Given the description of an element on the screen output the (x, y) to click on. 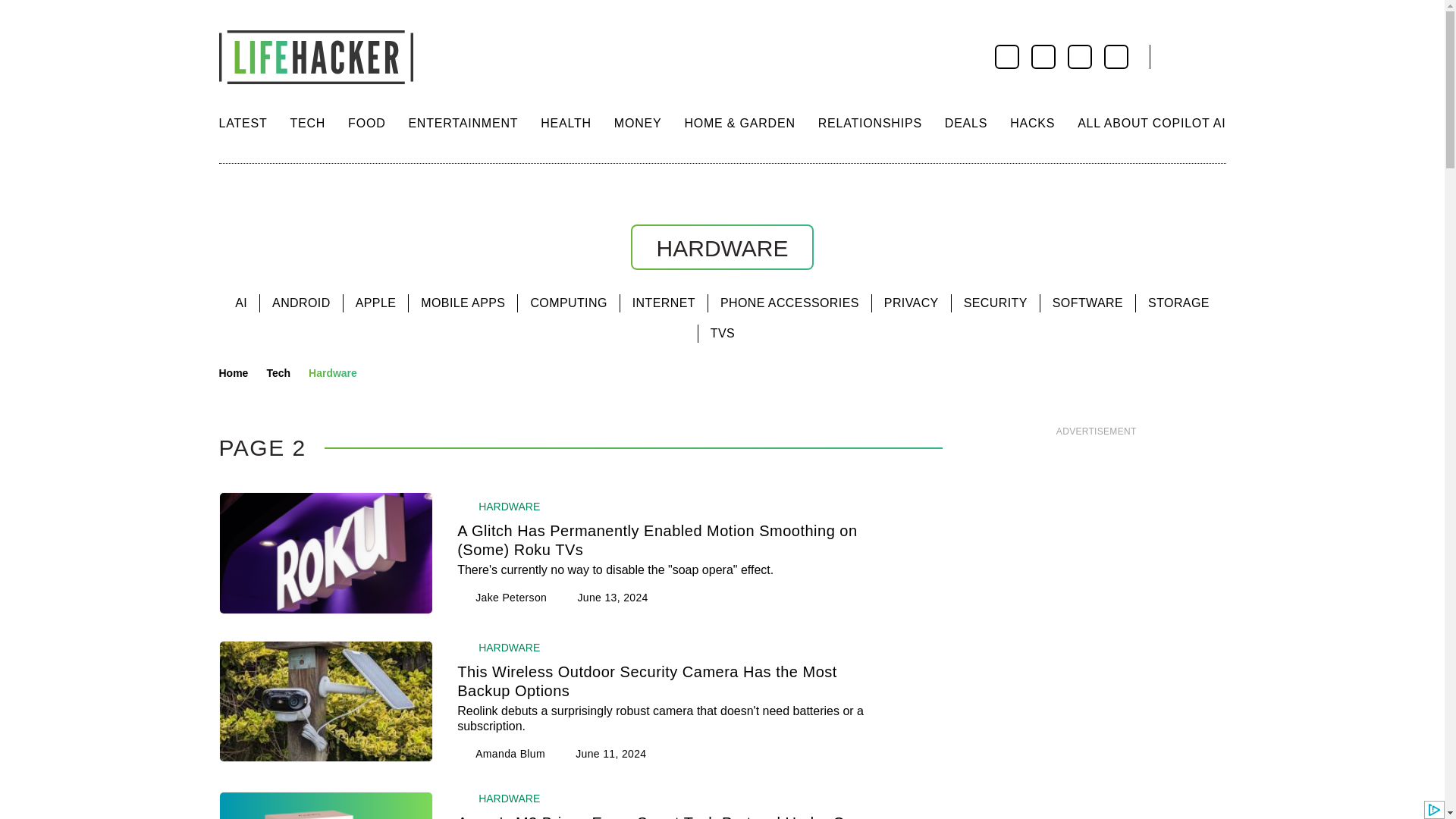
MONEY (638, 123)
RELATIONSHIPS (869, 123)
MOBILE APPS (462, 302)
FOOD (366, 123)
ENTERTAINMENT (462, 123)
AI (240, 302)
APPLE (375, 302)
HEALTH (565, 123)
HACKS (1032, 123)
DEALS (965, 123)
ANDROID (301, 302)
TECH (306, 123)
LATEST (242, 123)
ALL ABOUT COPILOT AI (1151, 123)
